Given the description of an element on the screen output the (x, y) to click on. 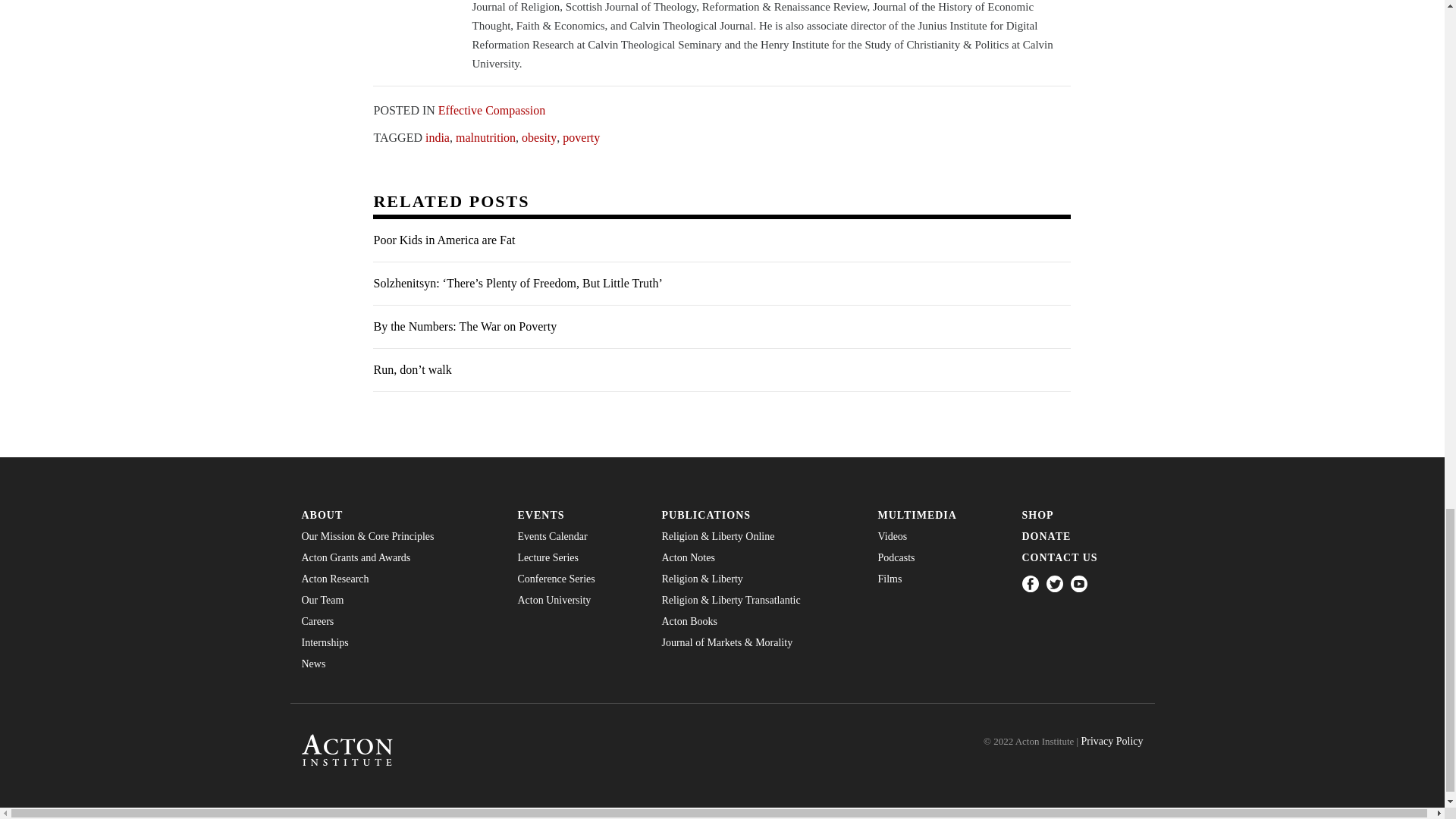
EVENTS (577, 515)
Effective Compassion (491, 110)
obesity (538, 137)
Acton Research (398, 579)
Poor Kids in America are Fat (721, 240)
By the Numbers: The War on Poverty (721, 326)
Careers (398, 621)
poverty (580, 137)
Acton Grants and Awards (398, 557)
malnutrition (485, 137)
Our Team (398, 600)
News (398, 664)
ABOUT (398, 515)
By the Numbers: The War on Poverty (721, 326)
Poor Kids in America are Fat (721, 240)
